Given the description of an element on the screen output the (x, y) to click on. 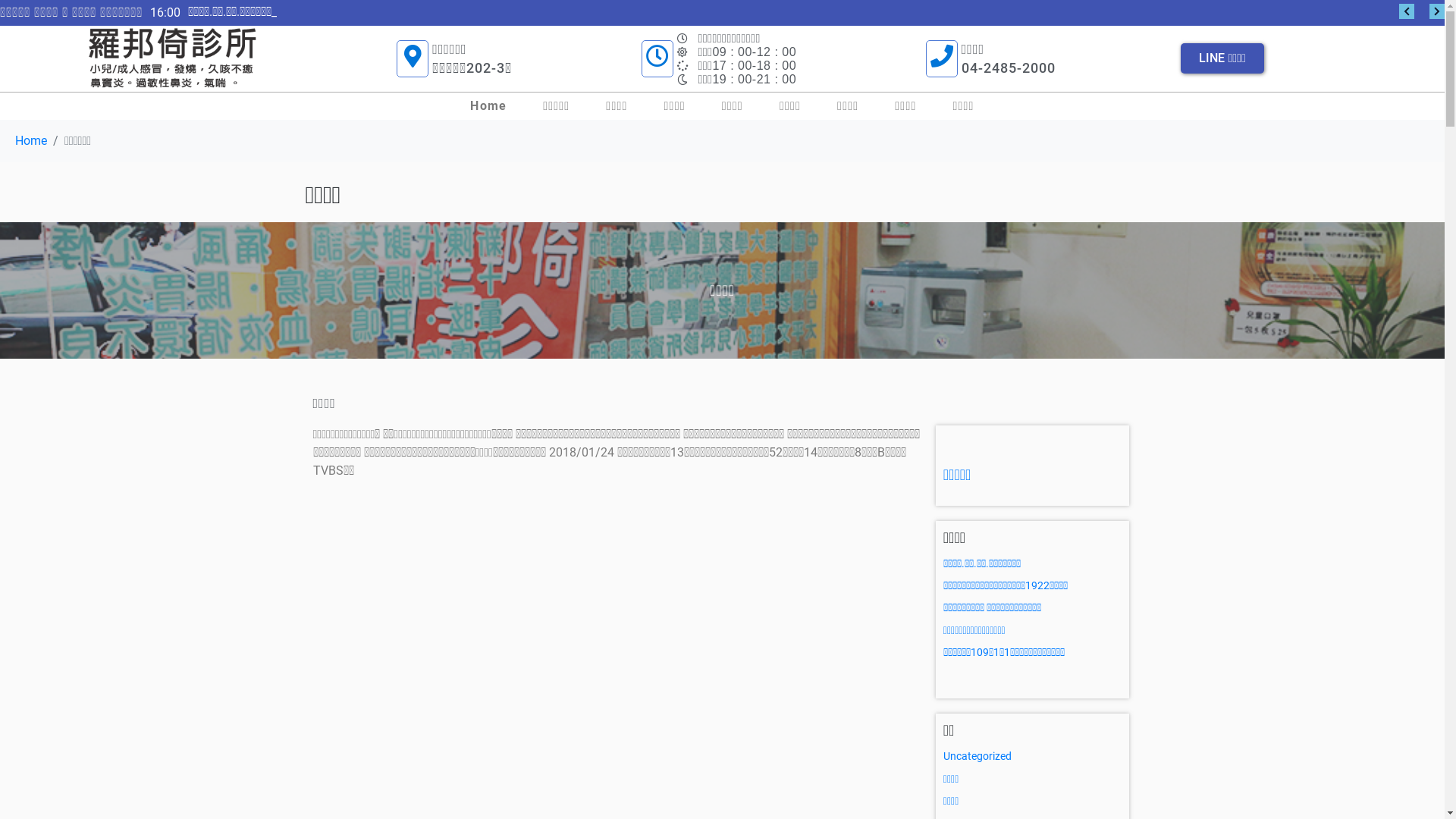
Uncategorized Element type: text (977, 755)
Home Element type: text (31, 140)
Home Element type: text (488, 105)
